Given the description of an element on the screen output the (x, y) to click on. 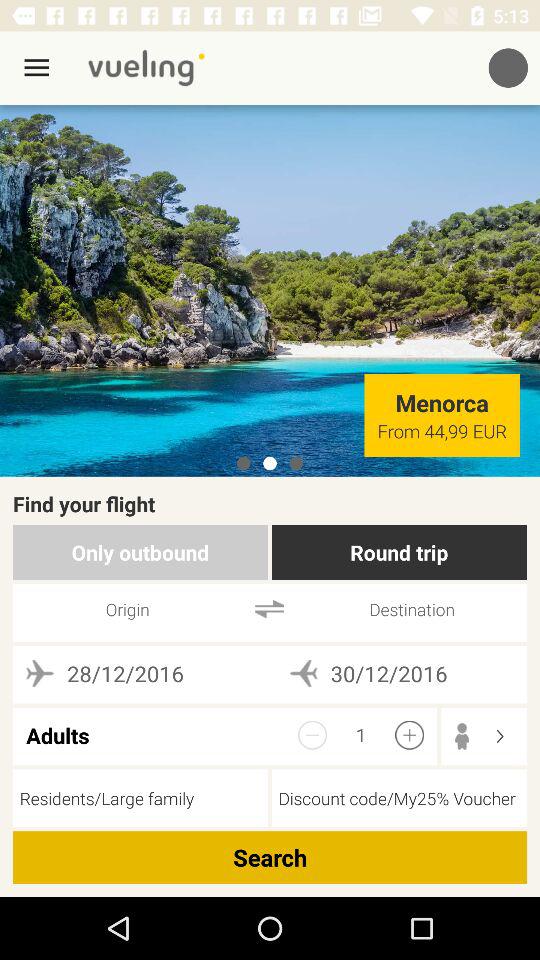
flip to only outbound item (140, 552)
